Given the description of an element on the screen output the (x, y) to click on. 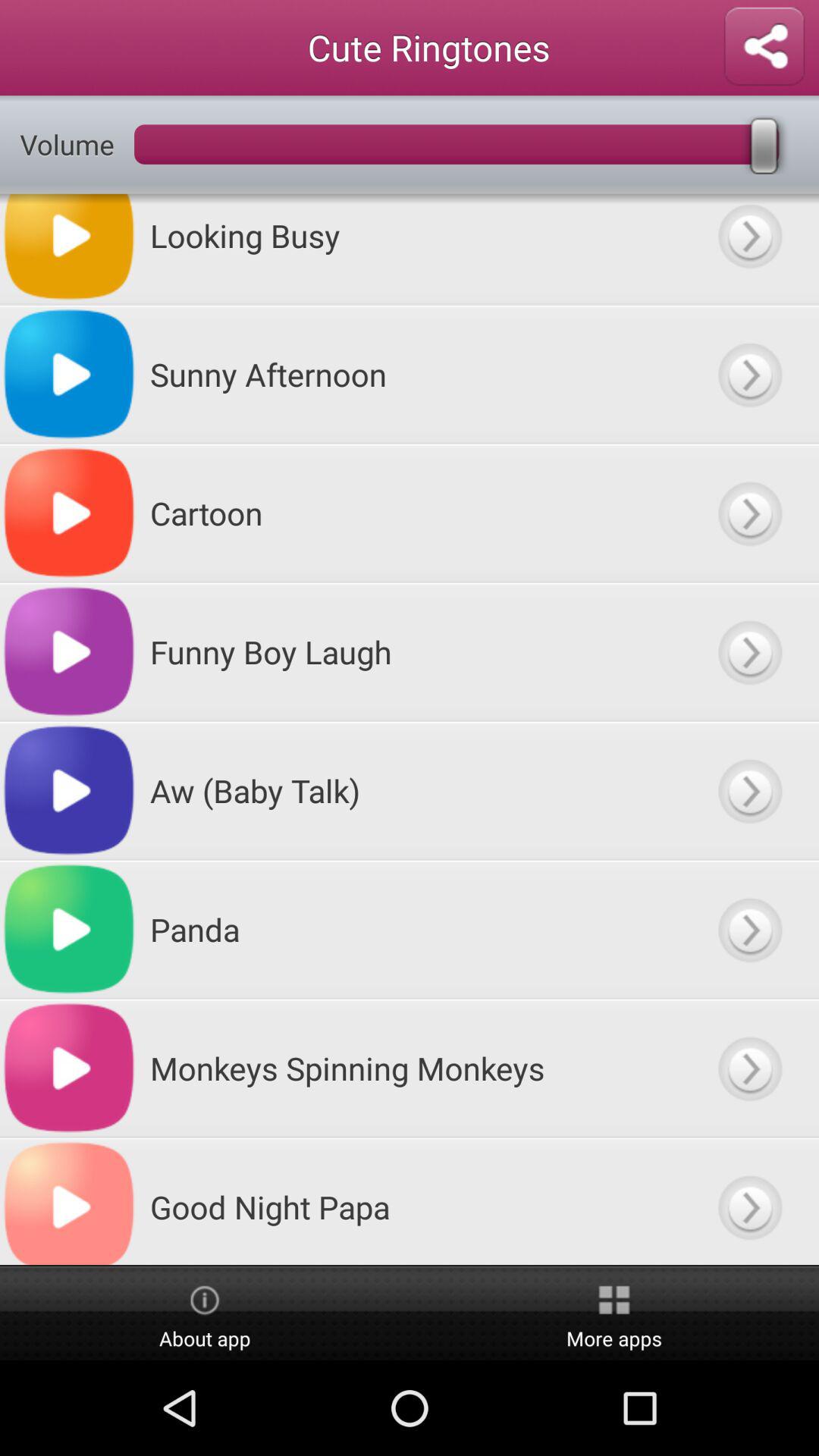
next button (749, 929)
